Given the description of an element on the screen output the (x, y) to click on. 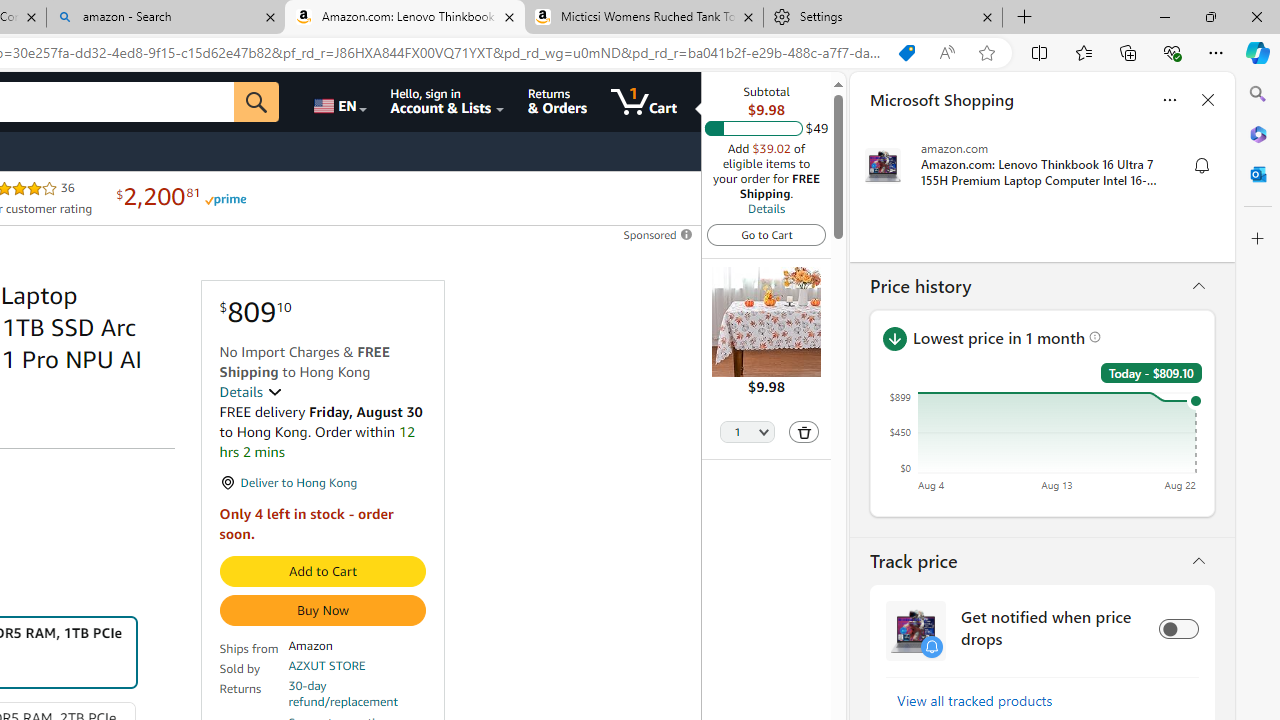
30-day refund/replacement (357, 693)
amazon - Search (166, 17)
1 item in cart (643, 101)
Details (765, 208)
AZXUT STORE (327, 665)
Details  (250, 391)
Add to Cart (322, 571)
Hello, sign in Account & Lists (447, 101)
Quantity Selector (747, 433)
Returns & Orders (557, 101)
